Given the description of an element on the screen output the (x, y) to click on. 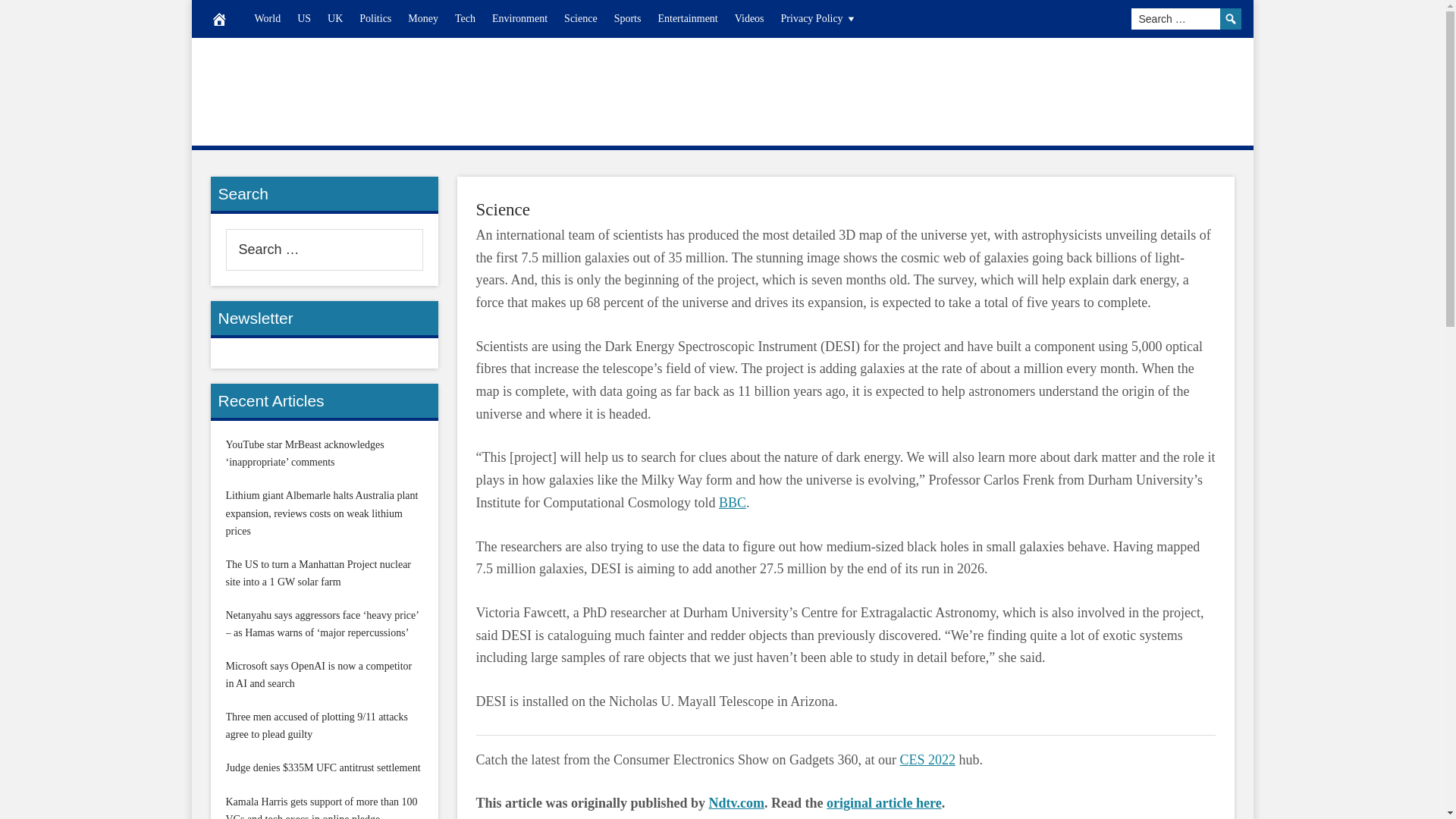
Money (422, 18)
Science (580, 18)
Videos (749, 18)
Privacy Policy (819, 18)
Science (503, 209)
Tech (464, 18)
Politics (374, 18)
Entertainment (687, 18)
Environment (519, 18)
Science (503, 209)
World (267, 18)
Sports (627, 18)
